Given the description of an element on the screen output the (x, y) to click on. 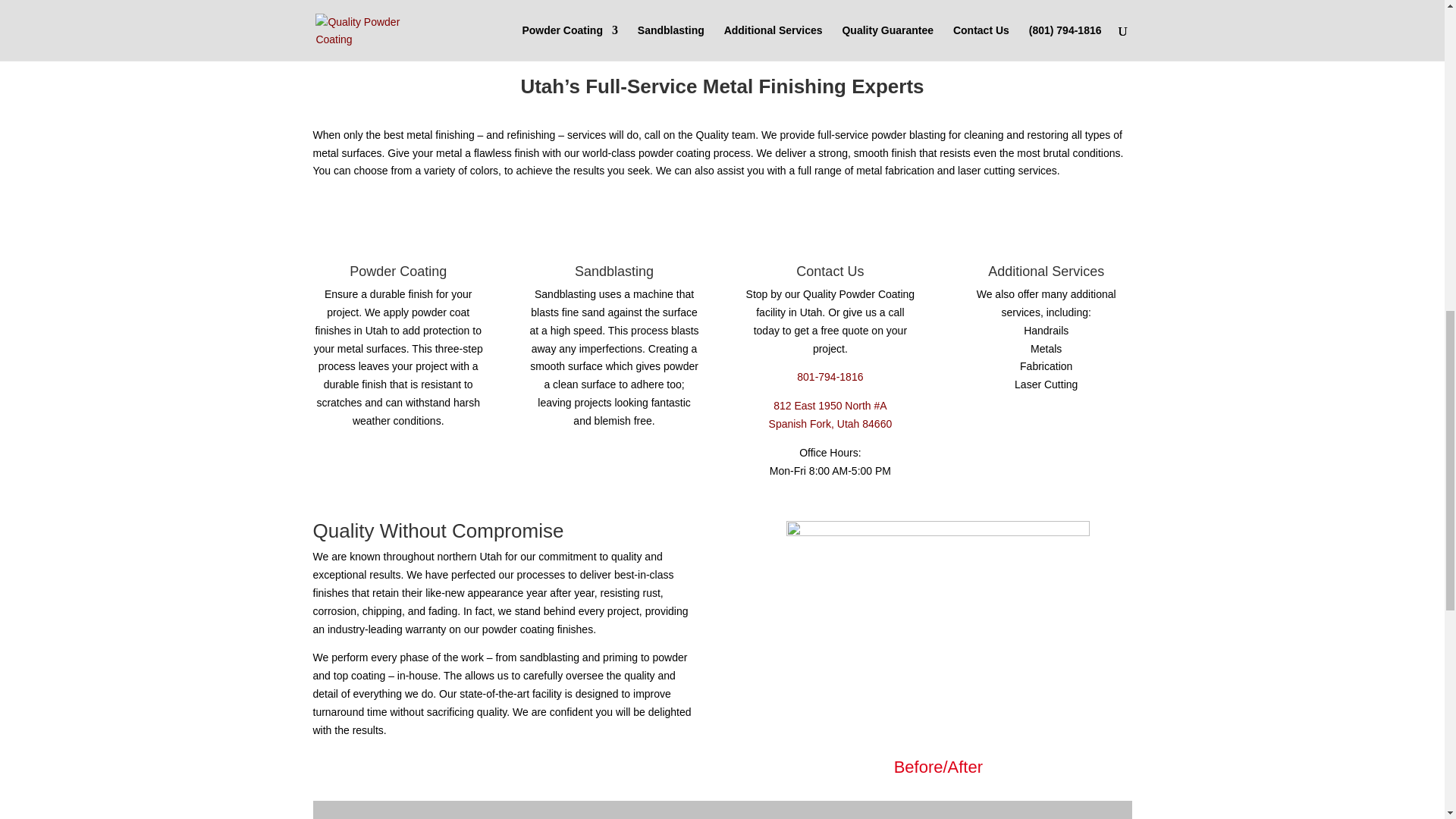
Additional Services (1045, 271)
Contact Us (829, 271)
Sandblasting (614, 271)
Powder Coating (397, 271)
801-794-1816 (829, 377)
